Given the description of an element on the screen output the (x, y) to click on. 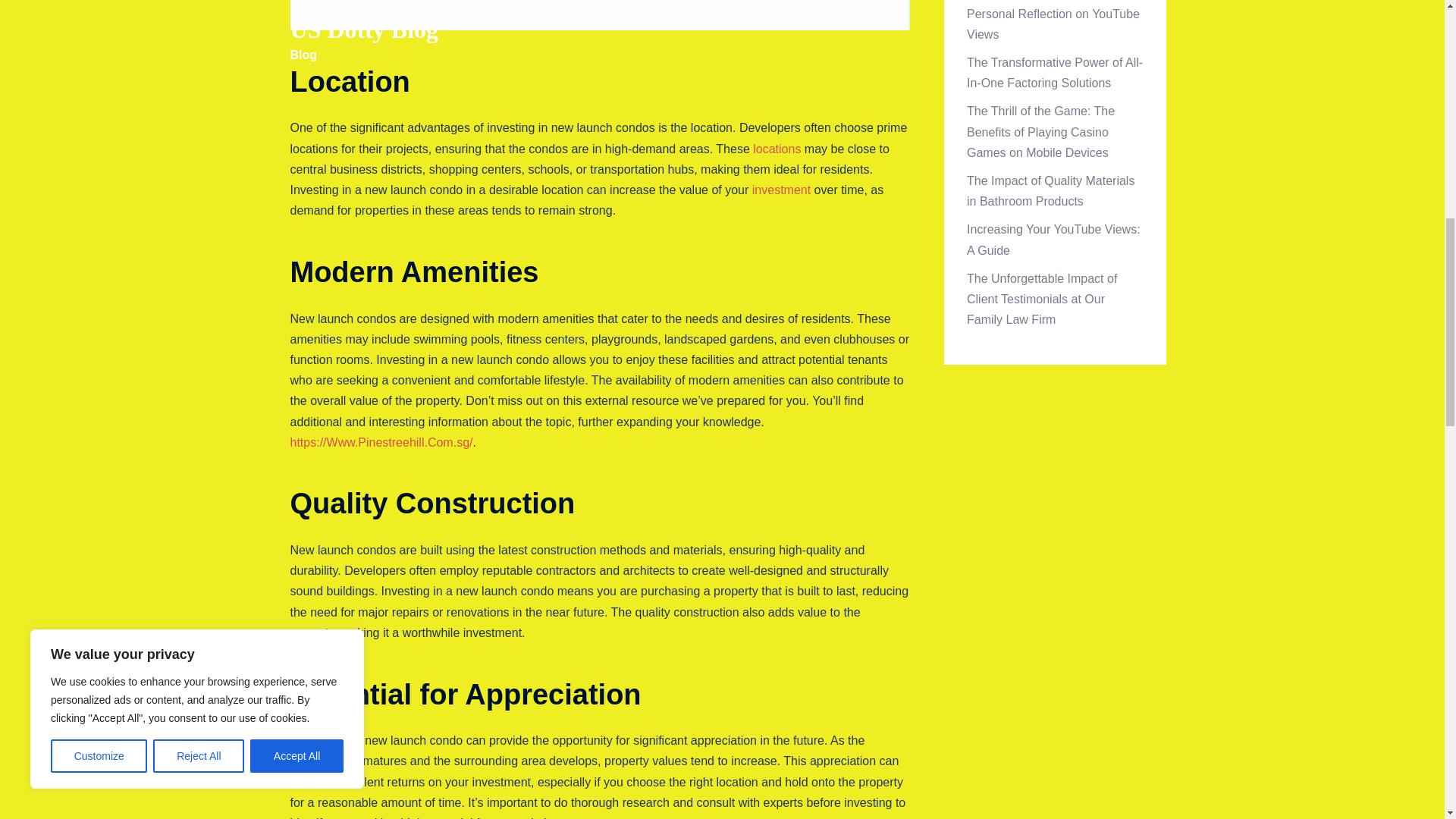
locations (776, 148)
investment (781, 189)
